Given the description of an element on the screen output the (x, y) to click on. 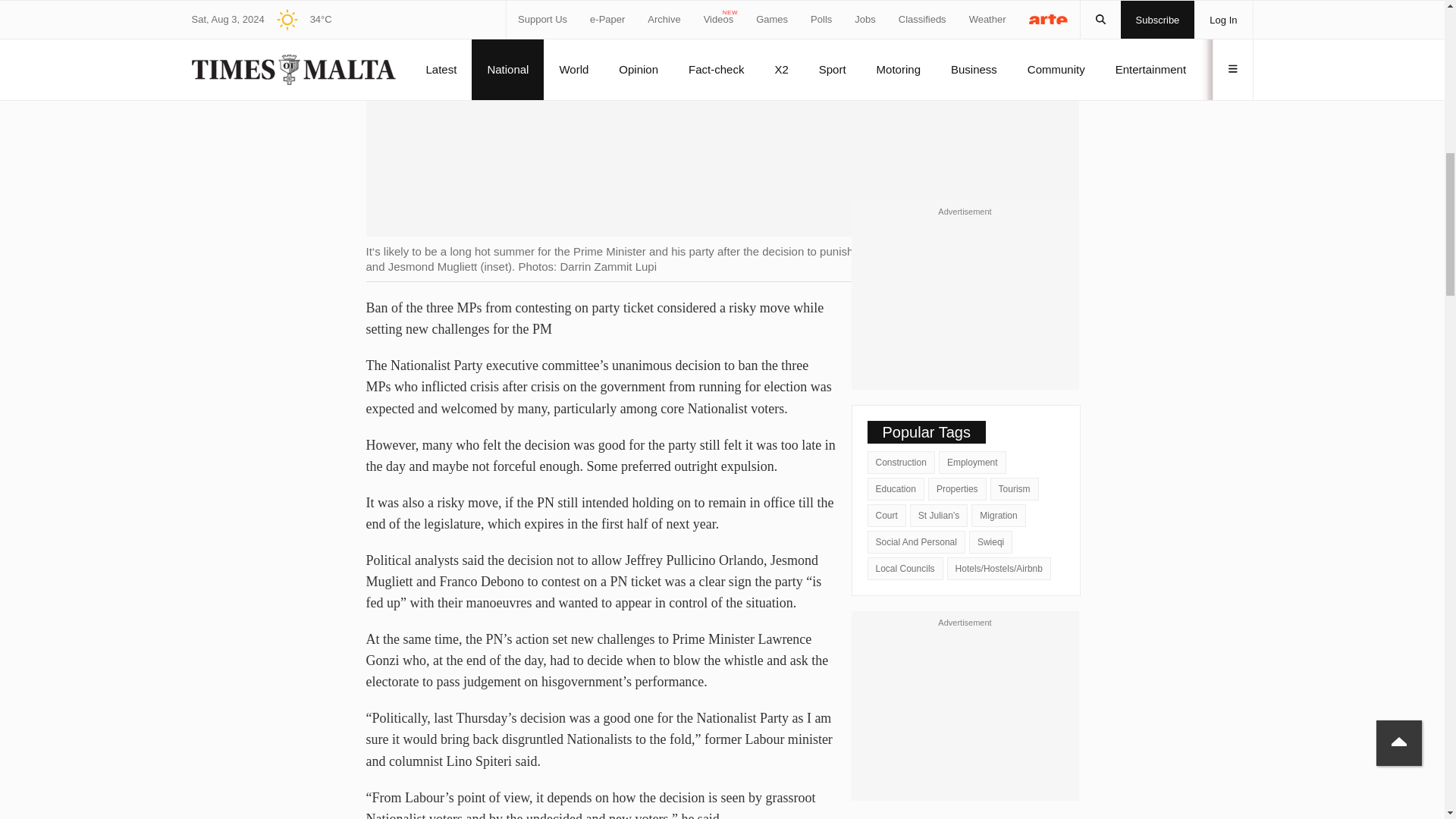
Construction (900, 462)
Properties (957, 488)
Education (895, 488)
Employment (972, 462)
